Given the description of an element on the screen output the (x, y) to click on. 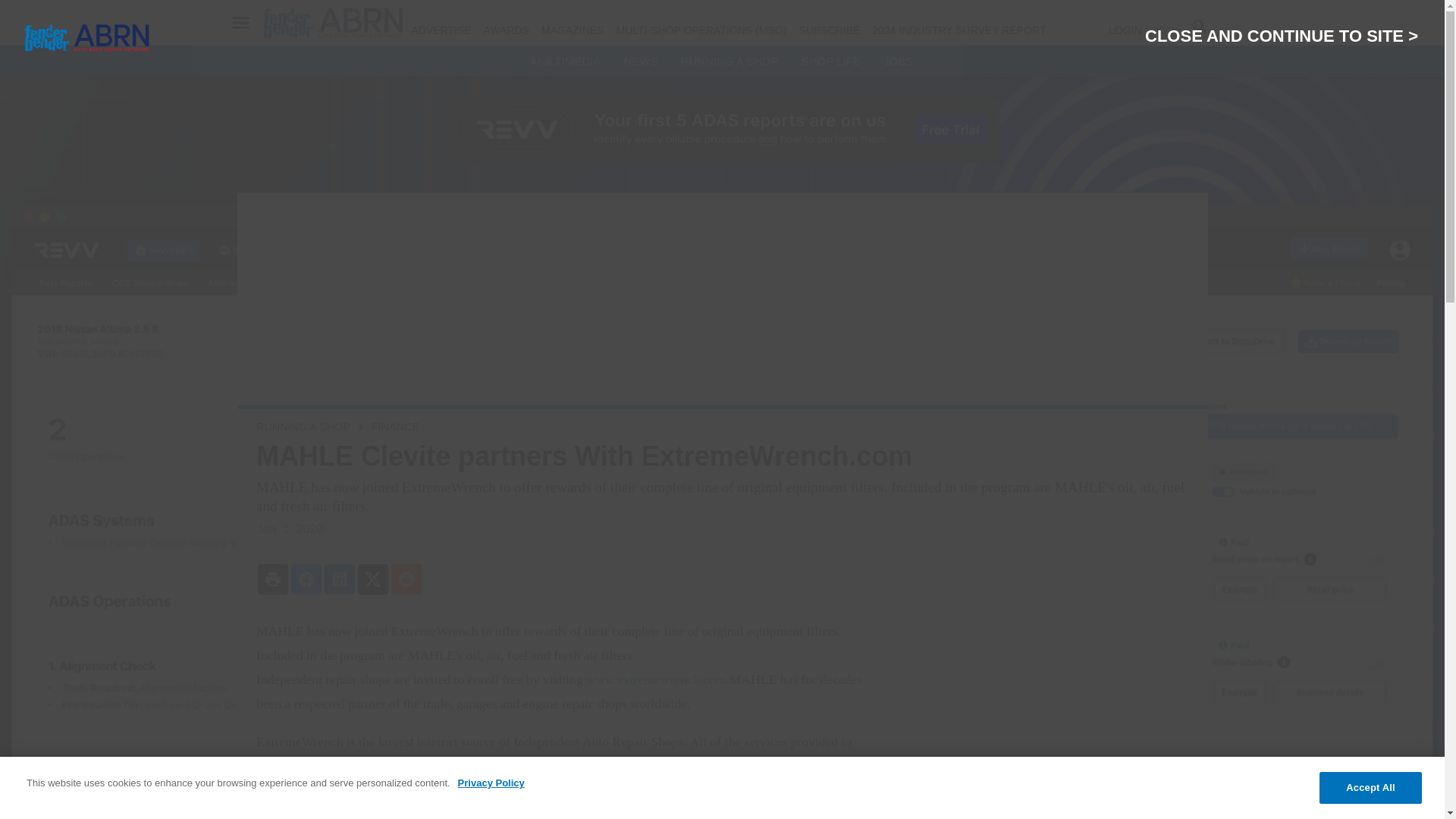
RUNNING A SHOP (728, 60)
2024 INDUSTRY SURVEY REPORT (958, 30)
MAGAZINES (572, 30)
NEWS (640, 60)
ADVERTISE (440, 30)
LOGIN (1124, 30)
MULTIMEDIA (565, 60)
SUBSCRIBE (828, 30)
SHOP LIFE (831, 60)
AWARDS (506, 30)
JOBS (897, 60)
3rd party ad content (1042, 719)
JOIN (1165, 30)
